Given the description of an element on the screen output the (x, y) to click on. 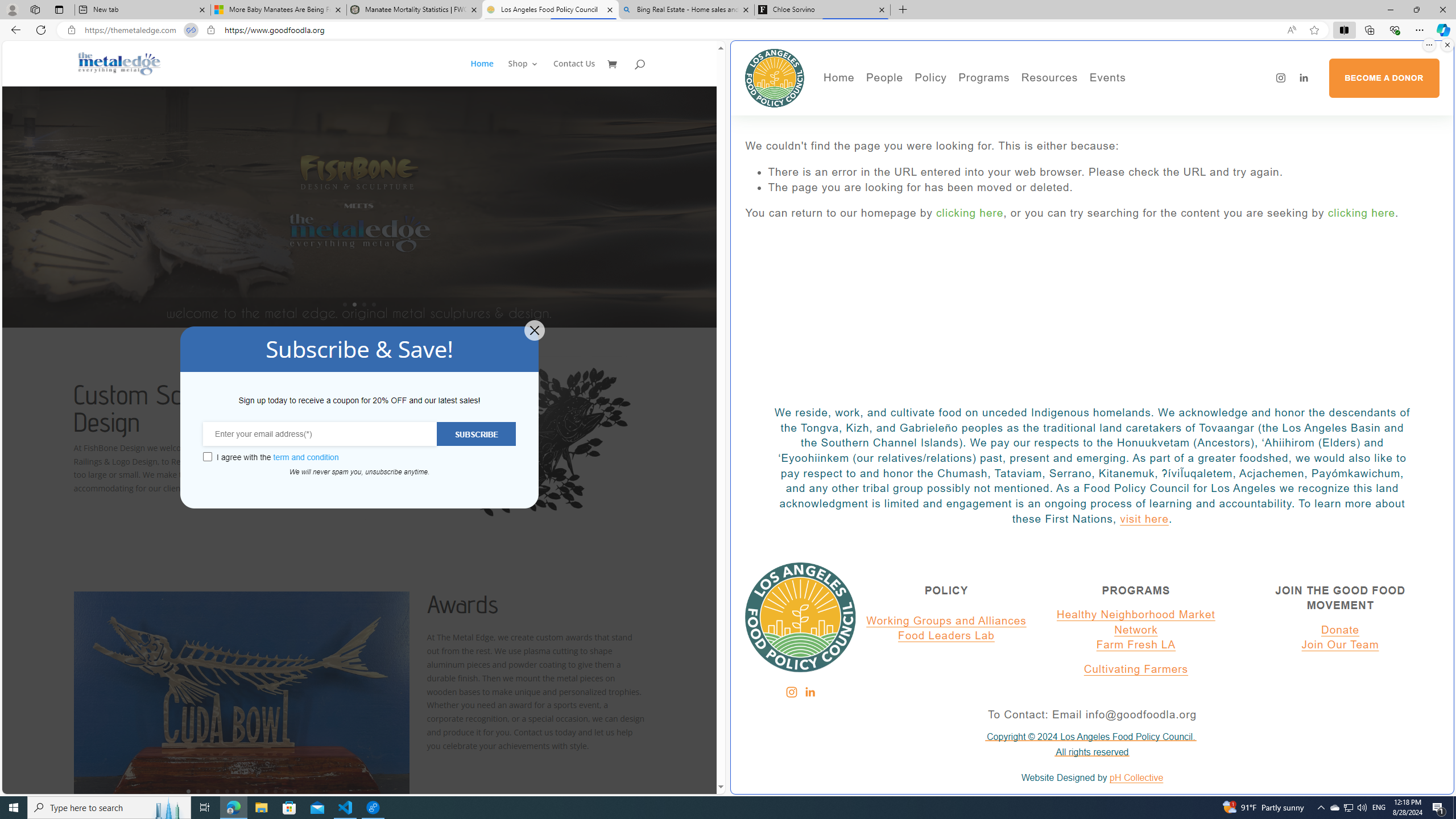
Los Angeles Food Policy Council (774, 77)
Policy (930, 77)
Food Rescue Macro Grants (1093, 132)
Blog (922, 148)
People (922, 116)
About (922, 99)
